Given the description of an element on the screen output the (x, y) to click on. 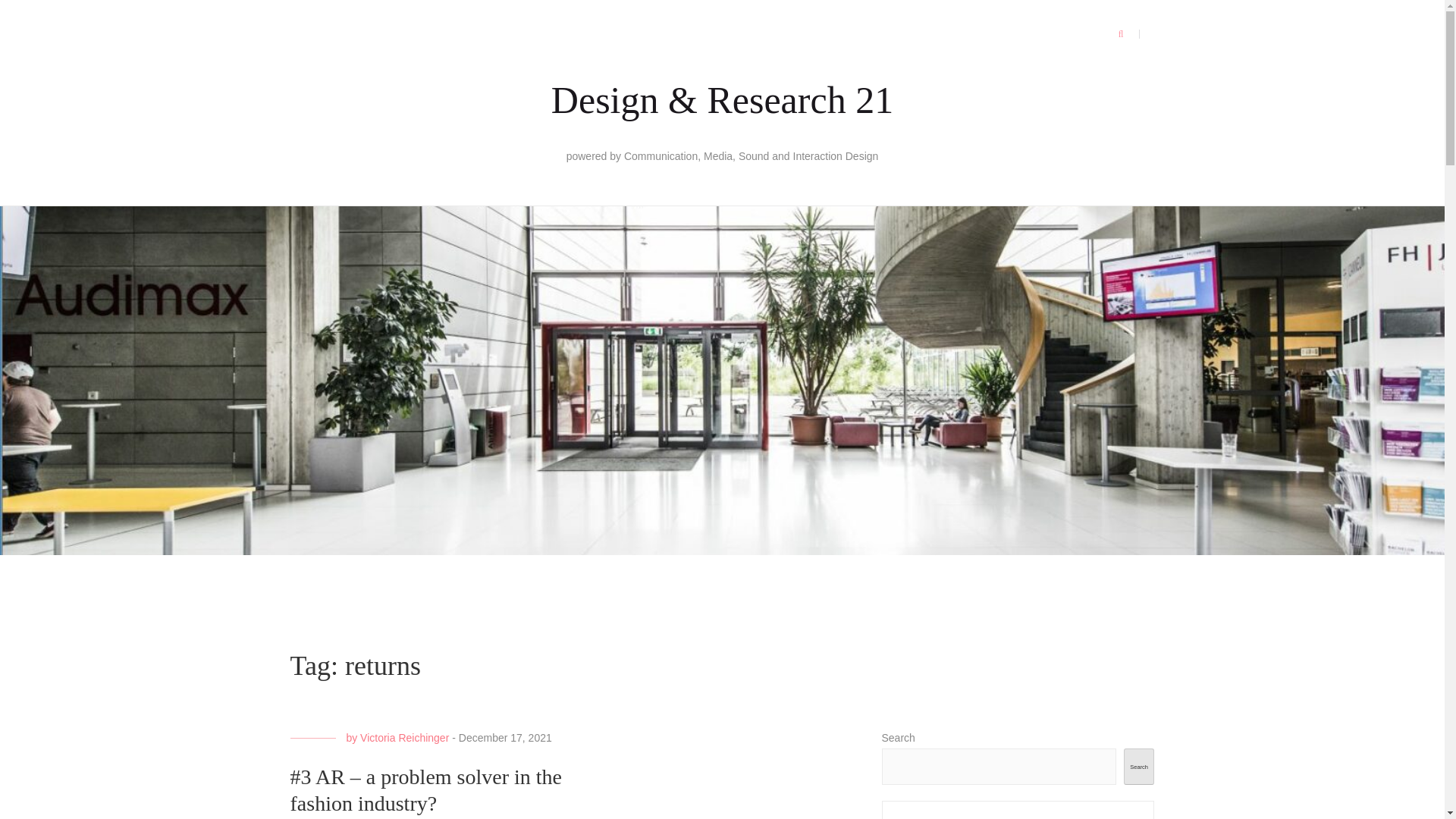
Victoria Reichinger (403, 737)
December 17, 2021 (504, 737)
